Given the description of an element on the screen output the (x, y) to click on. 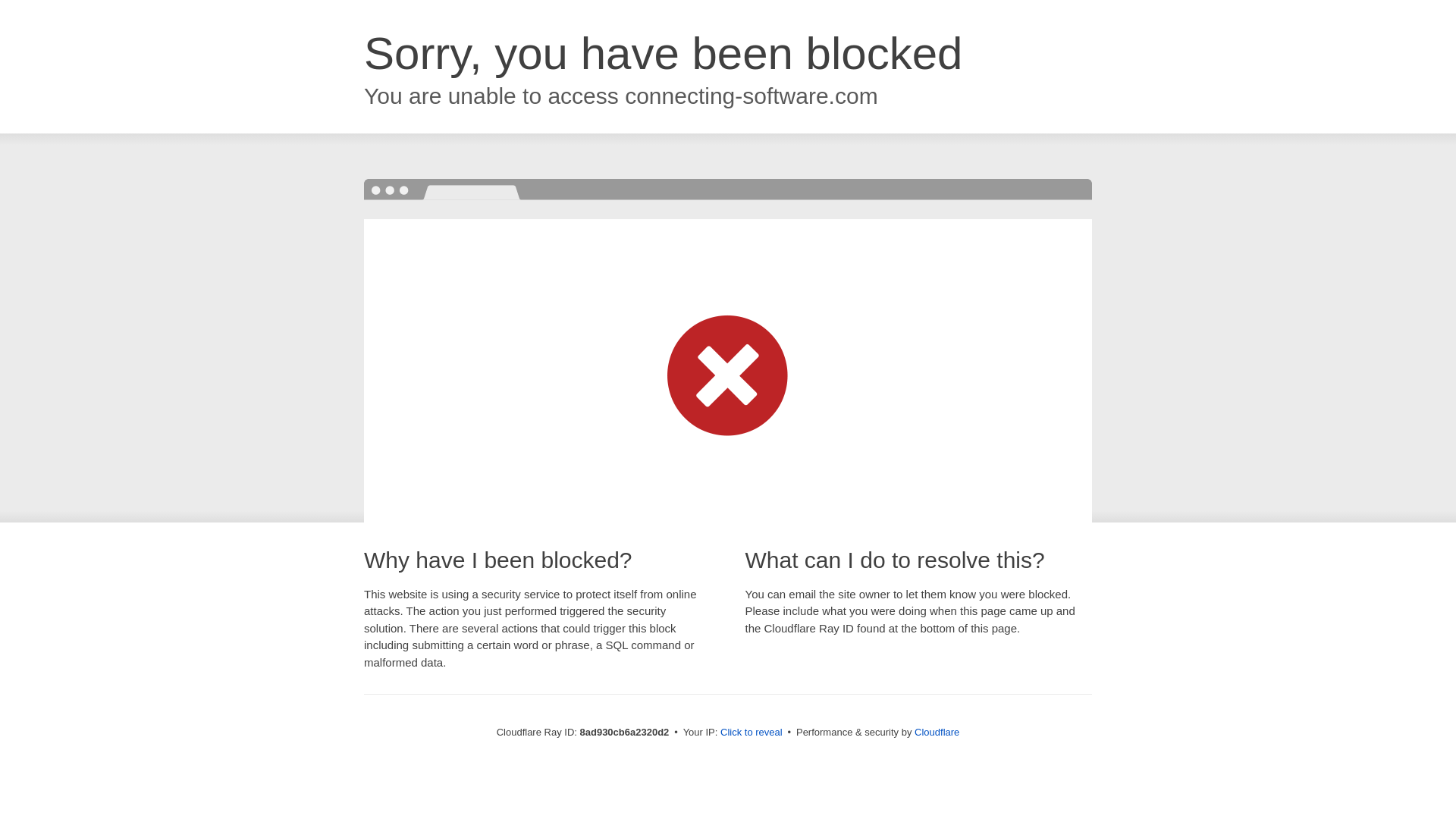
Cloudflare (936, 731)
Click to reveal (751, 732)
